Given the description of an element on the screen output the (x, y) to click on. 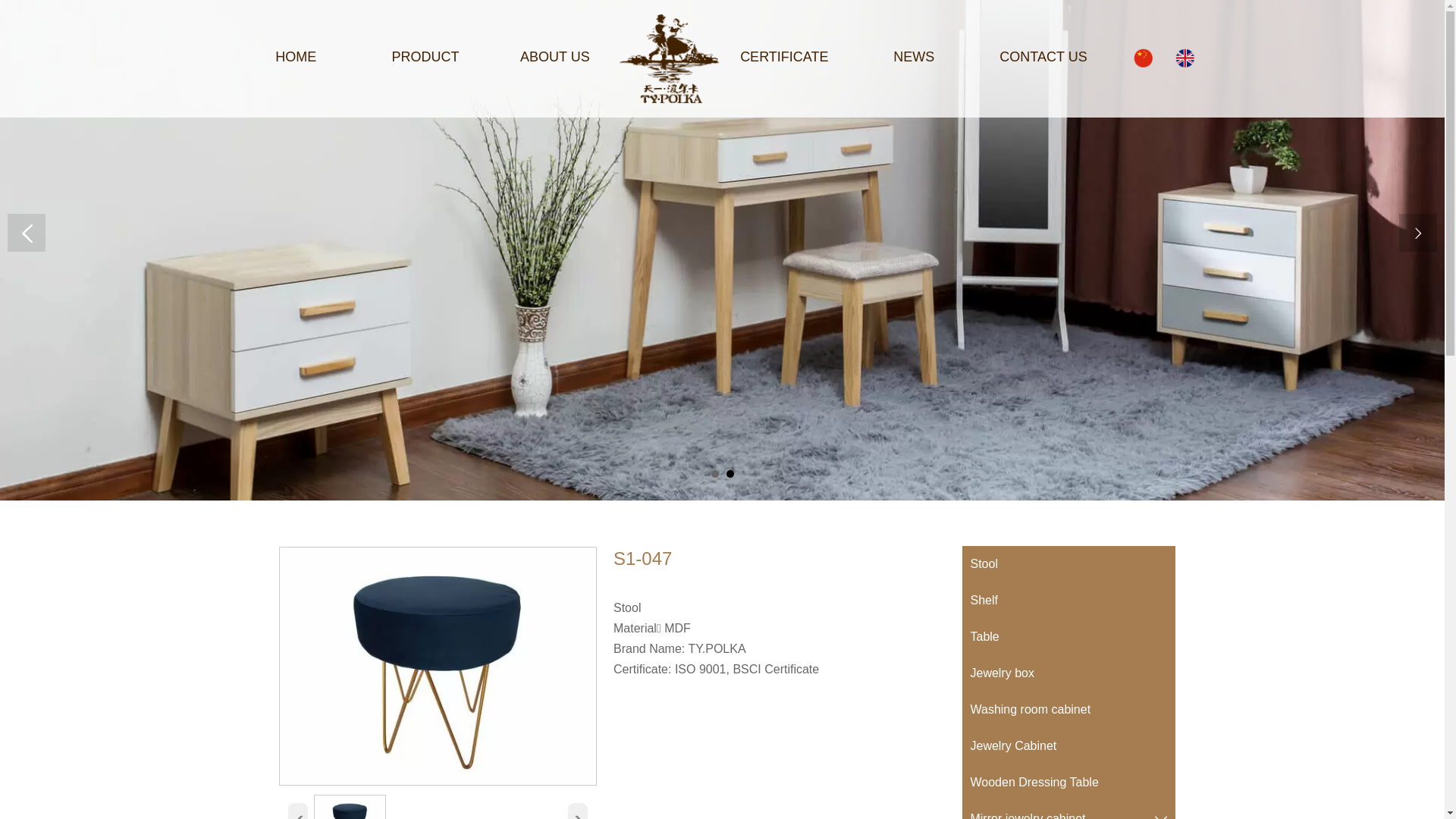
Stool Element type: text (1068, 564)
Washing room cabinet Element type: text (1068, 709)
CONTACT US Element type: text (1043, 57)
Jewelry Cabinet Element type: text (1068, 746)
S1-047 Element type: hover (437, 665)
2 Element type: text (730, 473)
Jewelry box Element type: text (1068, 673)
CERTIFICATE Element type: text (783, 57)
Shelf Element type: text (1068, 600)
ABOUT US Element type: text (554, 57)
PRODUCT Element type: text (425, 57)
1 Element type: text (714, 473)
NEWS Element type: text (913, 57)
HOME Element type: text (295, 57)
Wooden Dressing Table Element type: text (1068, 782)
Table Element type: text (1068, 636)
